Given the description of an element on the screen output the (x, y) to click on. 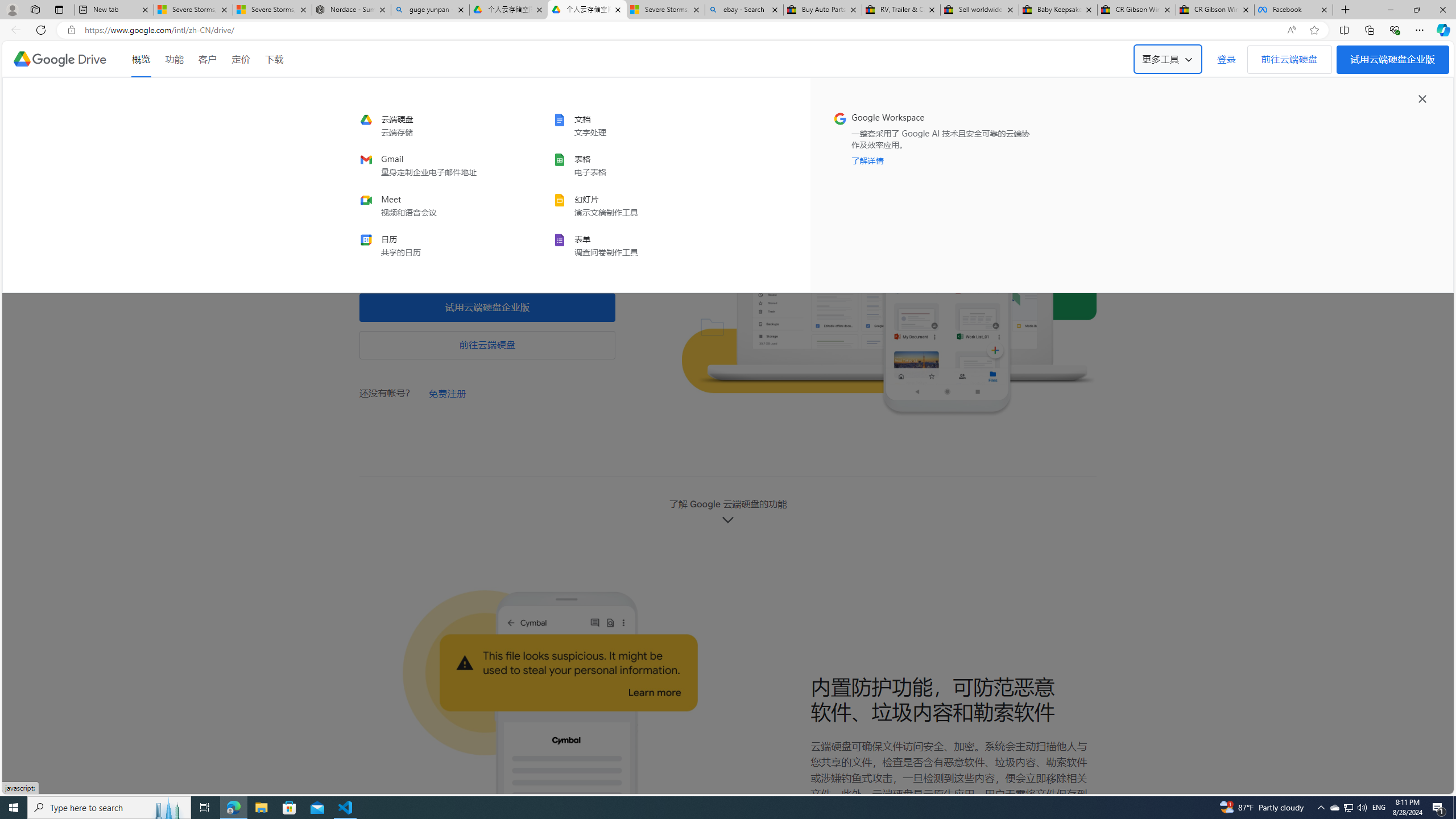
Google Drive (59, 58)
forms (627, 244)
